Given the description of an element on the screen output the (x, y) to click on. 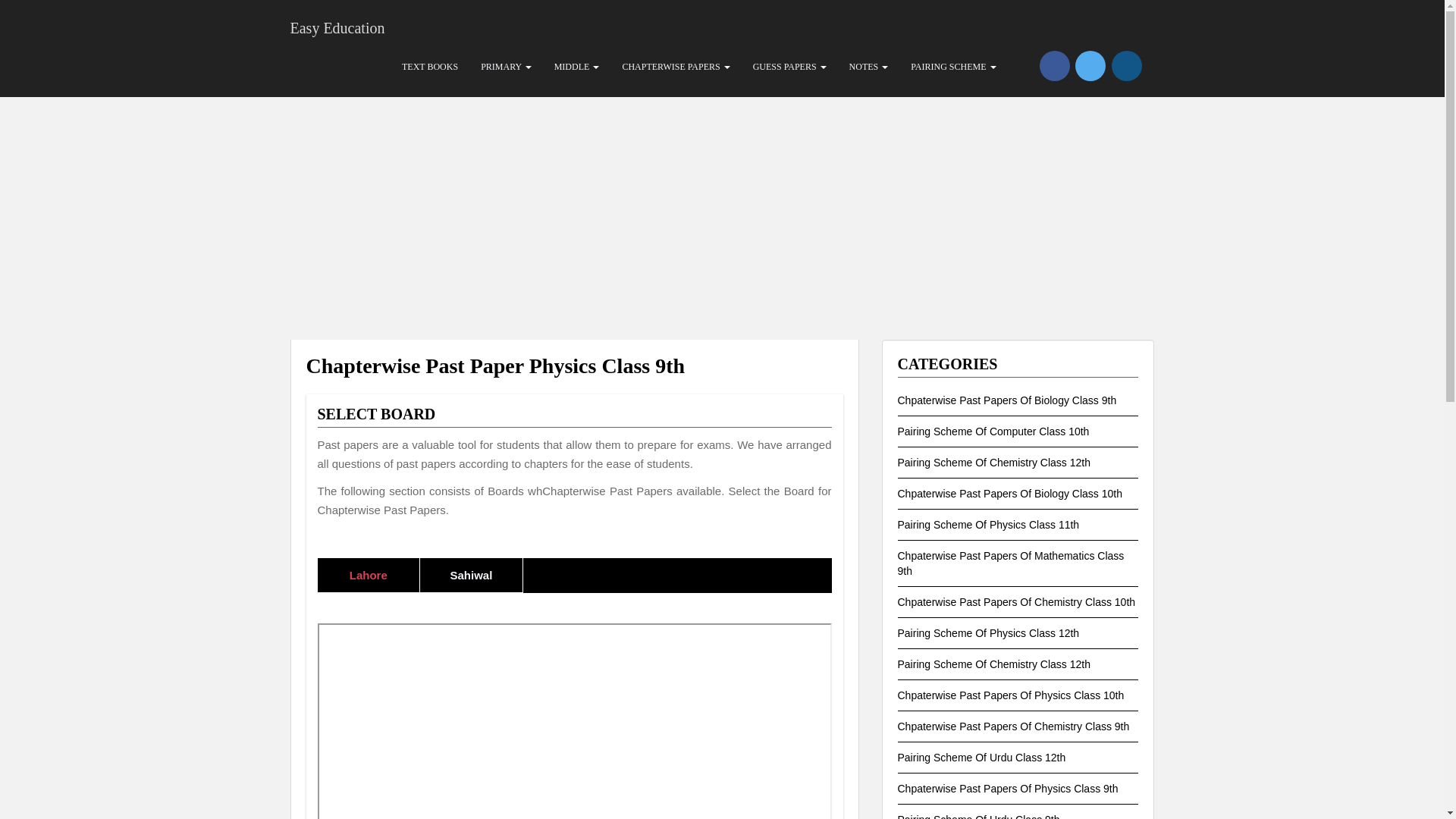
Pairing Scheme Of Physics Class 12th (989, 633)
Chapterwise Past Papers of Punjab Boards. (675, 66)
Sahiwal (471, 574)
PAIRING SCHEME (953, 66)
Notes (868, 66)
Pairing Scheme Of Physics Class 11th (989, 524)
Pairing Scheme Of Chemistry Class 12th (994, 462)
Easy Education (337, 18)
Pairing Scheme Of Chemistry Class 12th (994, 664)
Chpaterwise Past Papers Of Biology Class 10th (1010, 493)
Chpaterwise Past Papers Of Chemistry Class 10th (1016, 602)
PRIMARY (505, 66)
GUESS PAPERS (789, 66)
Pairing Scheme of Punjab Boards. (953, 66)
CHAPTERWISE PAPERS (675, 66)
